Given the description of an element on the screen output the (x, y) to click on. 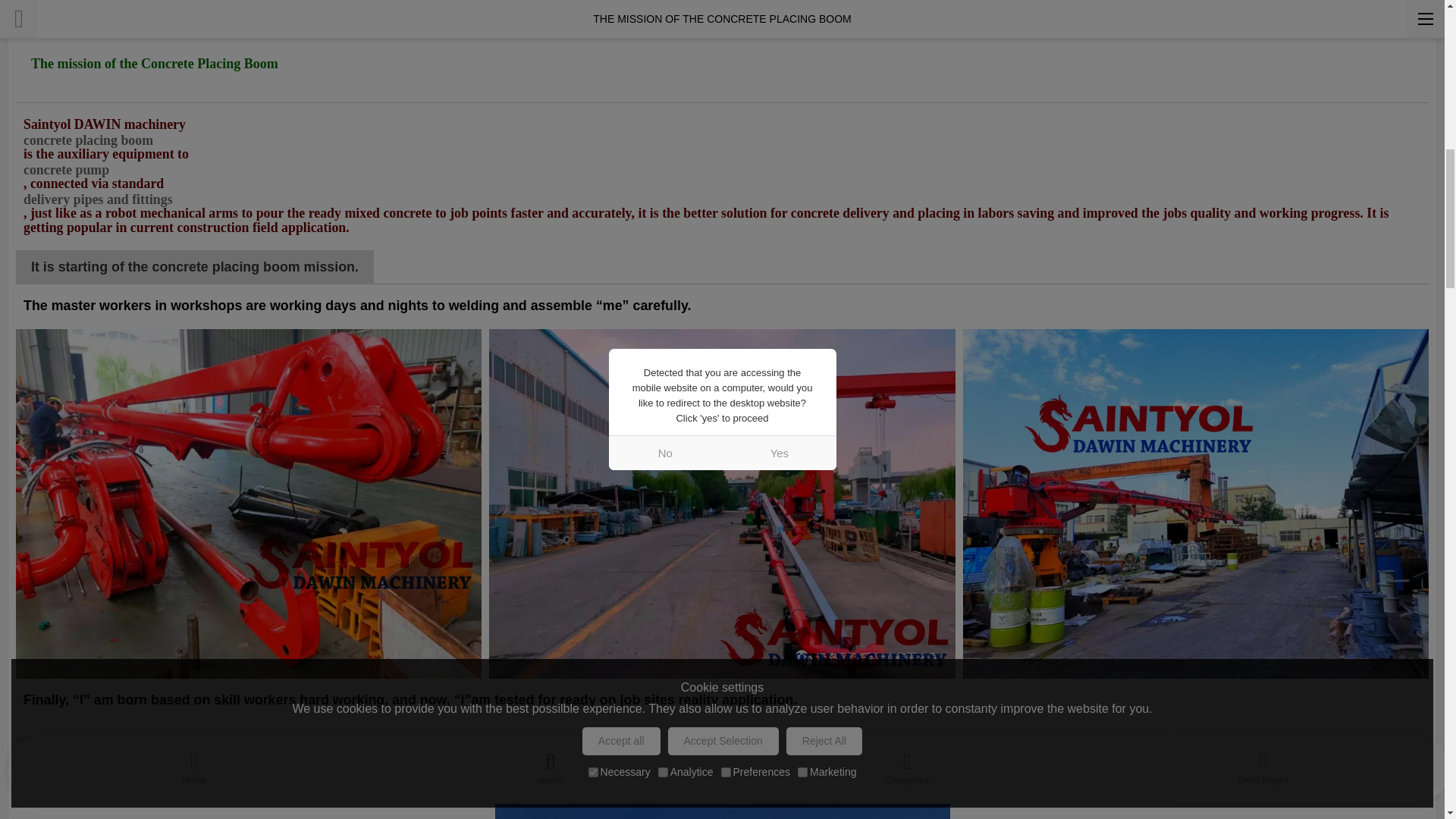
tower self climbing concrete placing boom (722, 798)
